Given the description of an element on the screen output the (x, y) to click on. 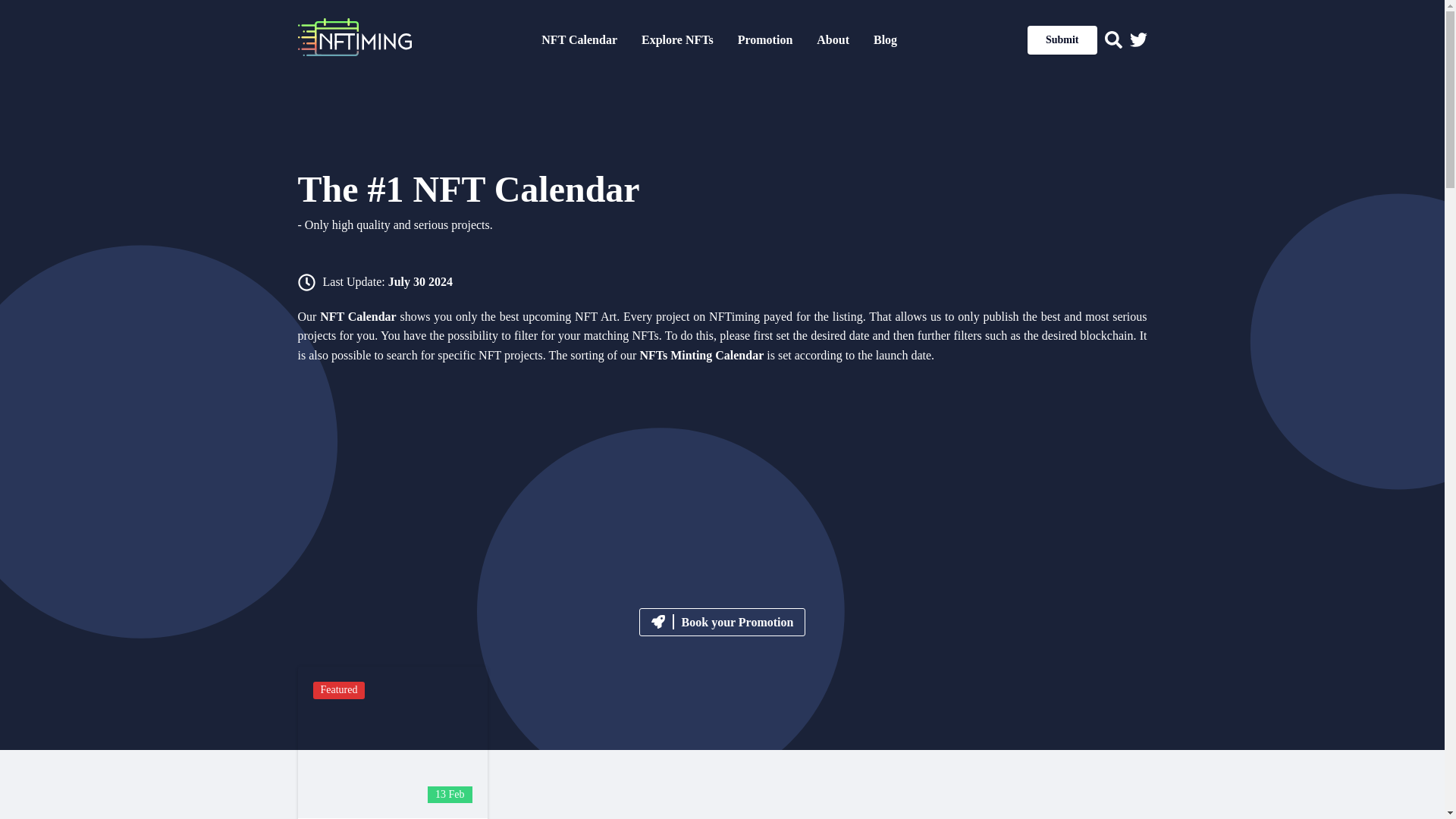
NFT Calendar (579, 40)
Book your Promotion (391, 742)
Blog (722, 622)
Promotion (884, 39)
